Given the description of an element on the screen output the (x, y) to click on. 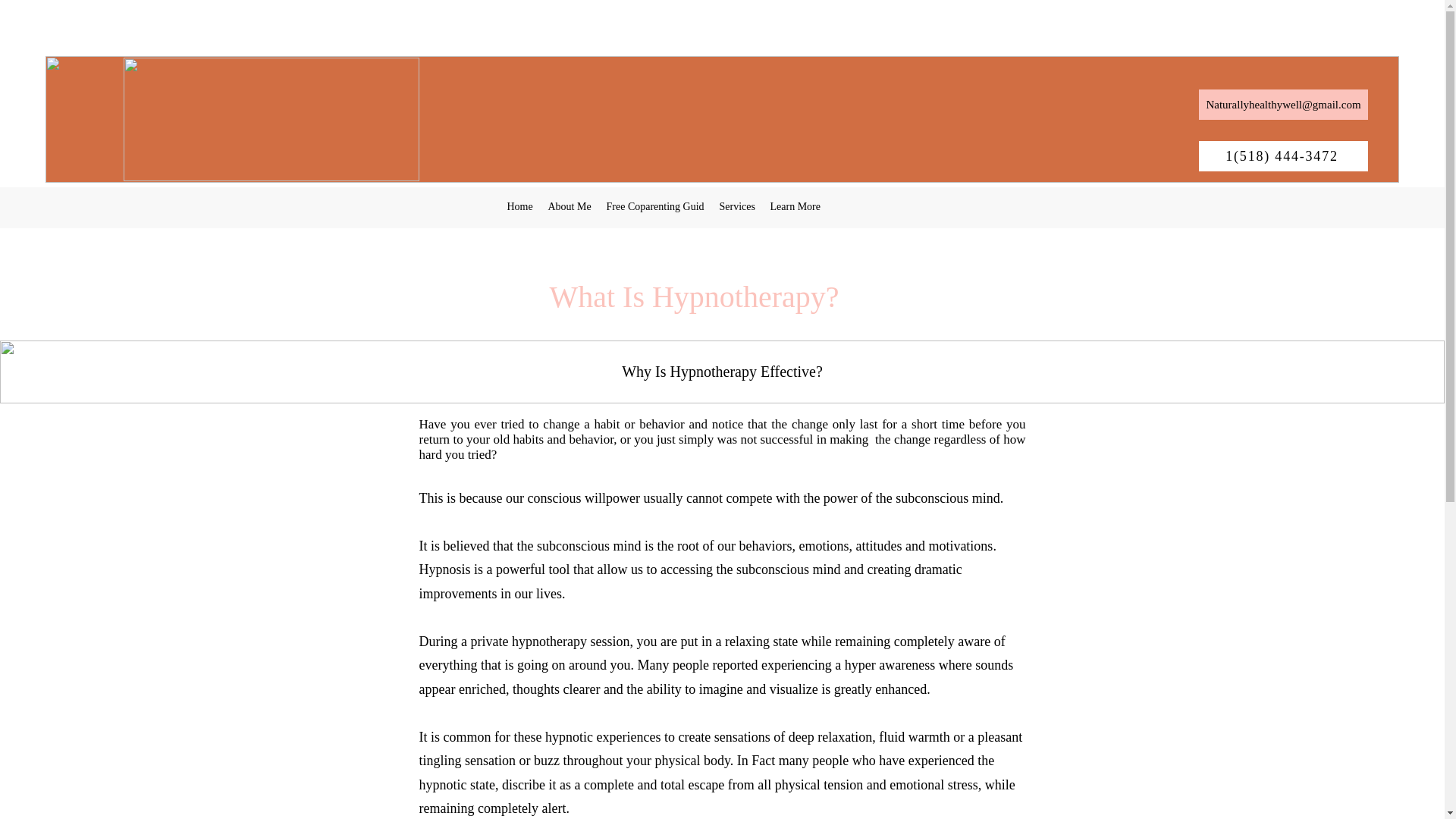
Free Coparenting Guid (654, 206)
About Me (569, 206)
Home (519, 206)
